Given the description of an element on the screen output the (x, y) to click on. 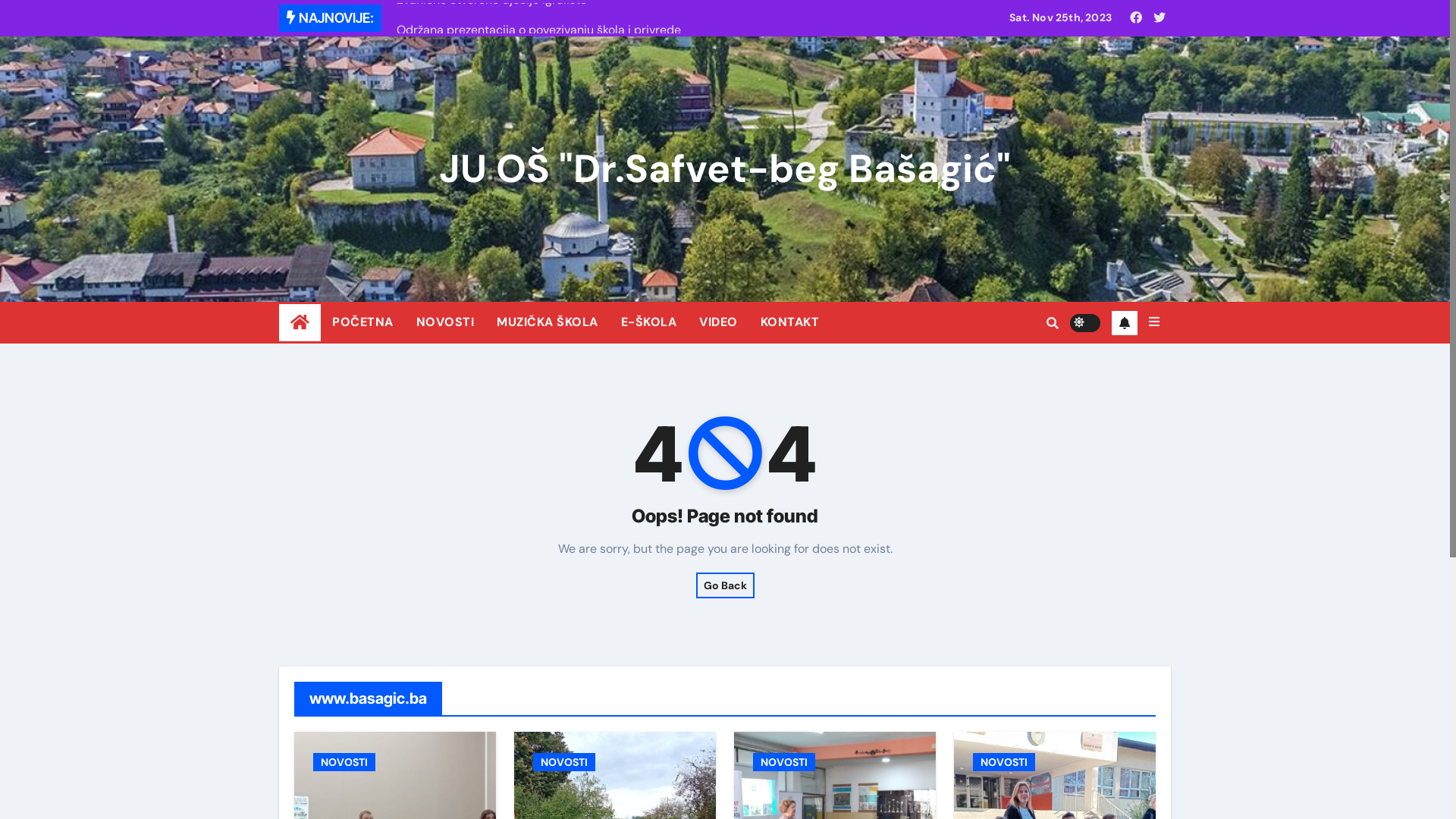
Home Element type: hover (299, 322)
NOVOSTI Element type: text (784, 762)
NOVOSTI Element type: text (564, 762)
Go Back Element type: text (725, 585)
VIDEO Element type: text (718, 322)
NOVOSTI Element type: text (344, 762)
NOVOSTI Element type: text (1003, 762)
KONTAKT Element type: text (790, 322)
NOVOSTI Element type: text (445, 322)
